Given the description of an element on the screen output the (x, y) to click on. 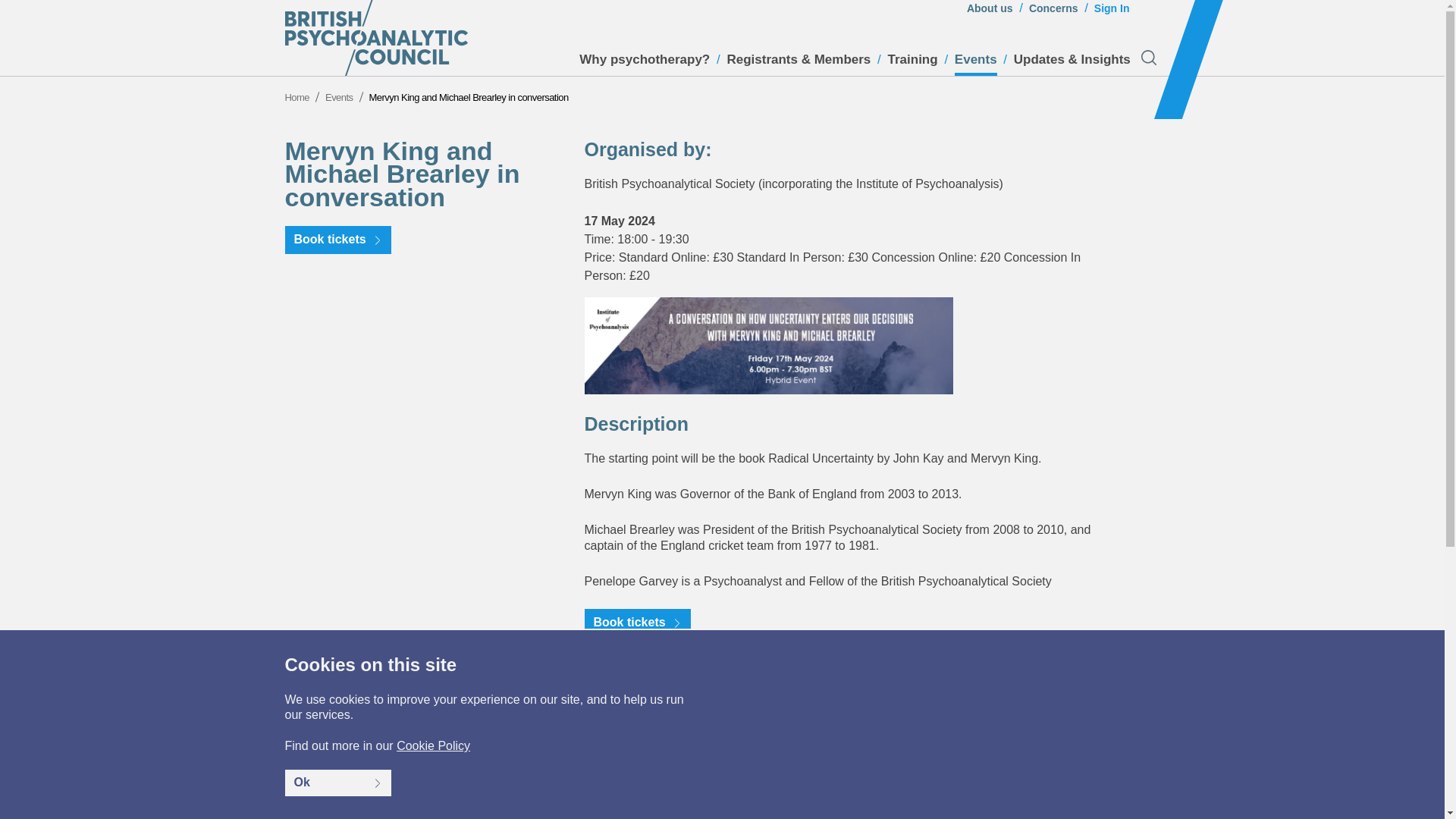
Events (976, 63)
Book tickets (338, 240)
Sign In (1111, 12)
Read more (1107, 694)
BACK TO TOP (1104, 810)
Book tickets (636, 623)
Home (297, 97)
Training (912, 63)
Events (338, 97)
Mervyn King and Michael Brearley in conversation (469, 97)
